Given the description of an element on the screen output the (x, y) to click on. 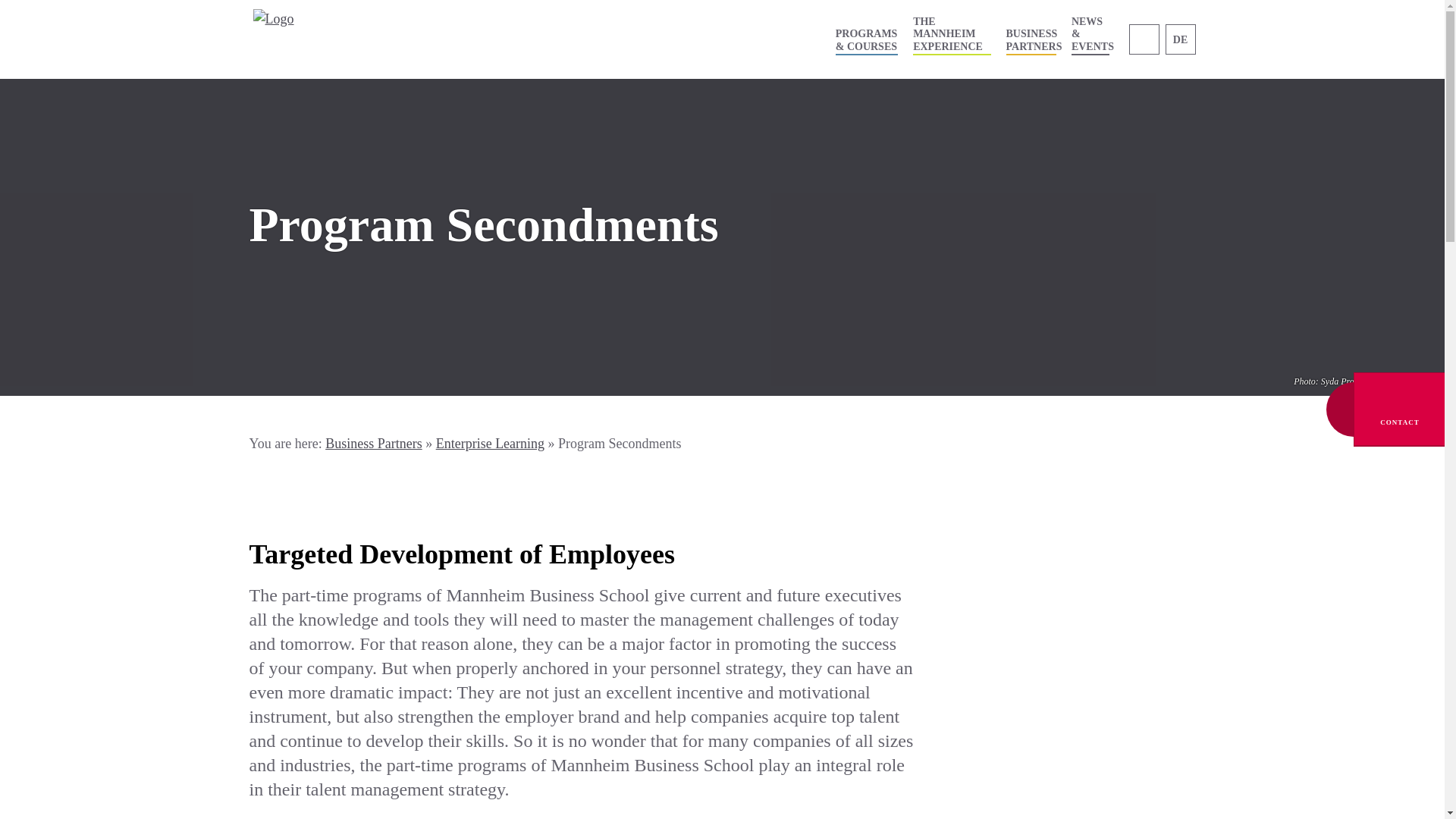
Link to homepage (319, 39)
